Given the description of an element on the screen output the (x, y) to click on. 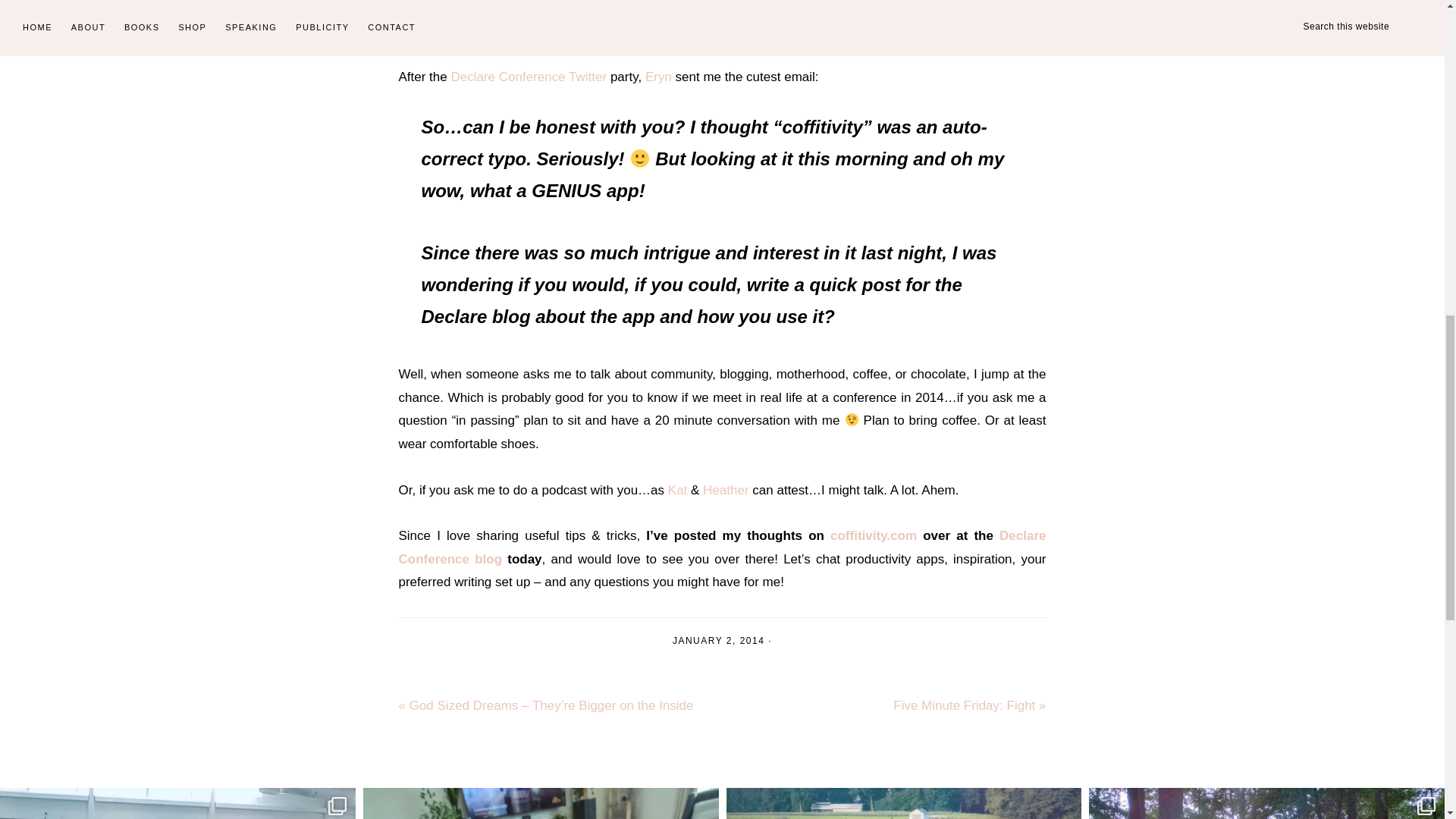
Declare Conference Twitter (529, 76)
Eryn (660, 76)
Kat (679, 490)
coffitivity.com (873, 535)
Heather (725, 490)
Declare Conference blog (722, 547)
